Given the description of an element on the screen output the (x, y) to click on. 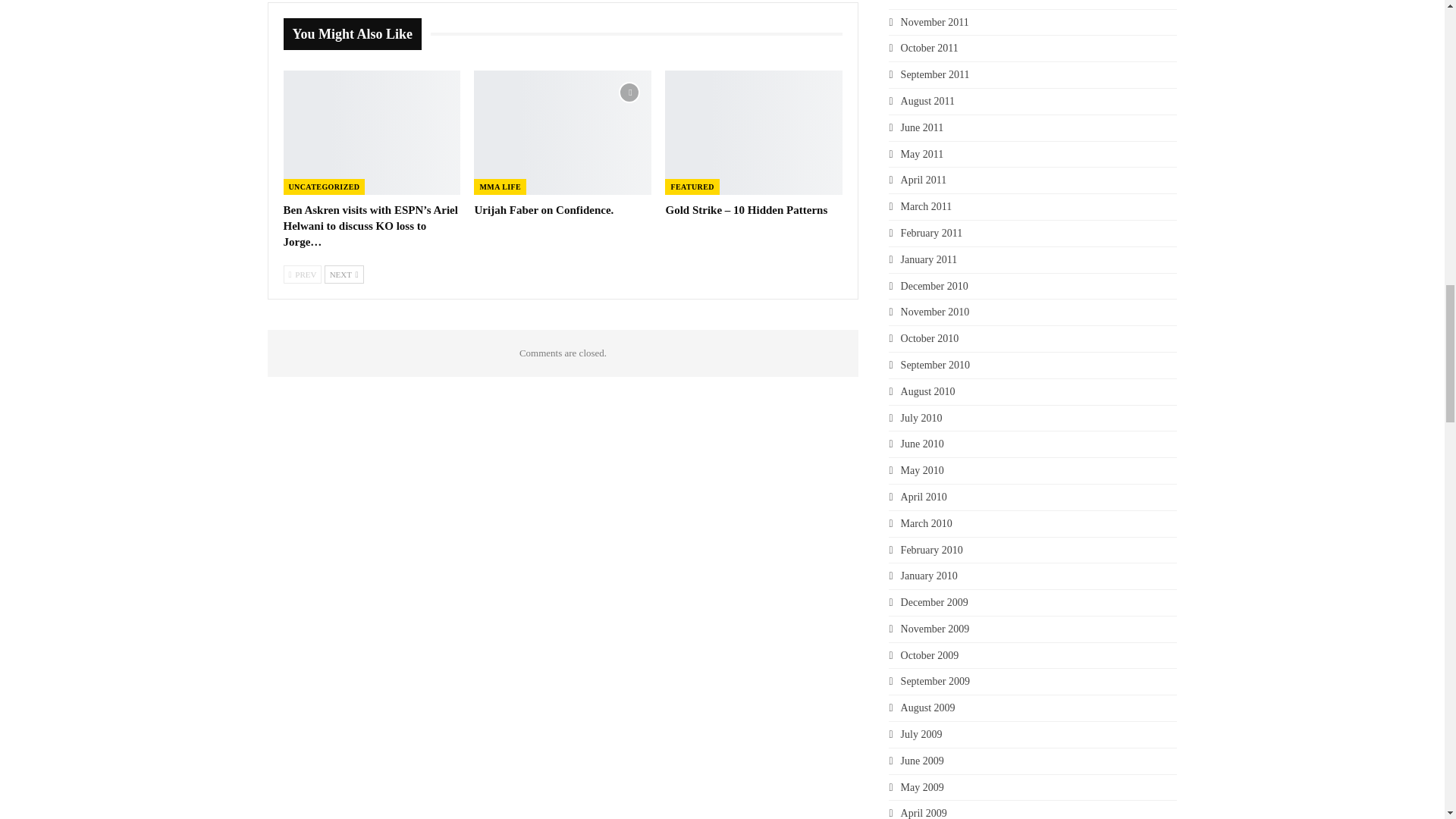
Urijah Faber on Confidence. (543, 209)
Previous (302, 274)
You Might Also Like (356, 33)
Urijah Faber on Confidence. (562, 132)
